Given the description of an element on the screen output the (x, y) to click on. 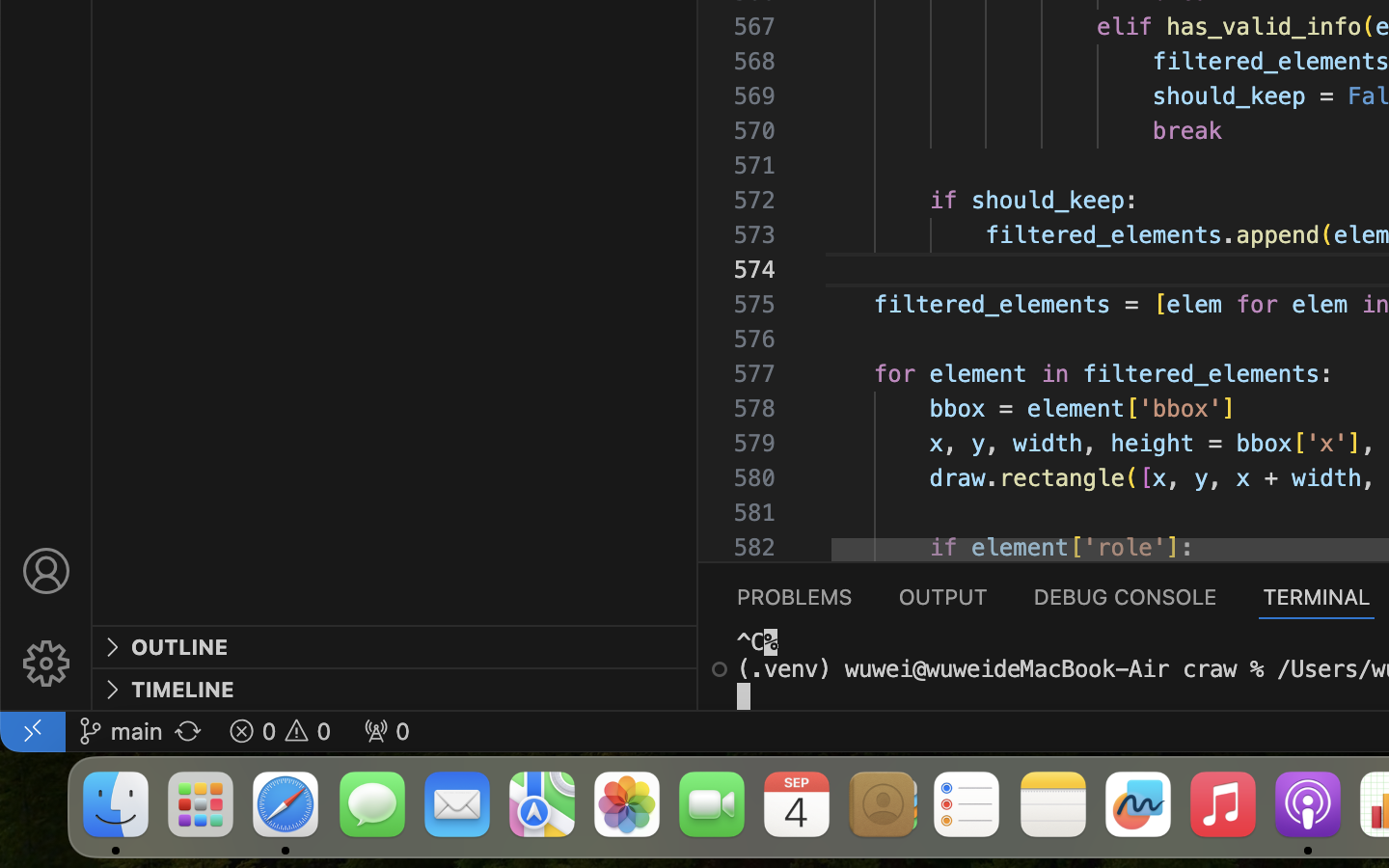
 0  0 Element type: AXButton (279, 730)
0 OUTPUT Element type: AXRadioButton (942, 595)
0 PROBLEMS Element type: AXRadioButton (794, 595)
 Element type: AXStaticText (719, 668)
0 DEBUG CONSOLE Element type: AXRadioButton (1125, 595)
